Given the description of an element on the screen output the (x, y) to click on. 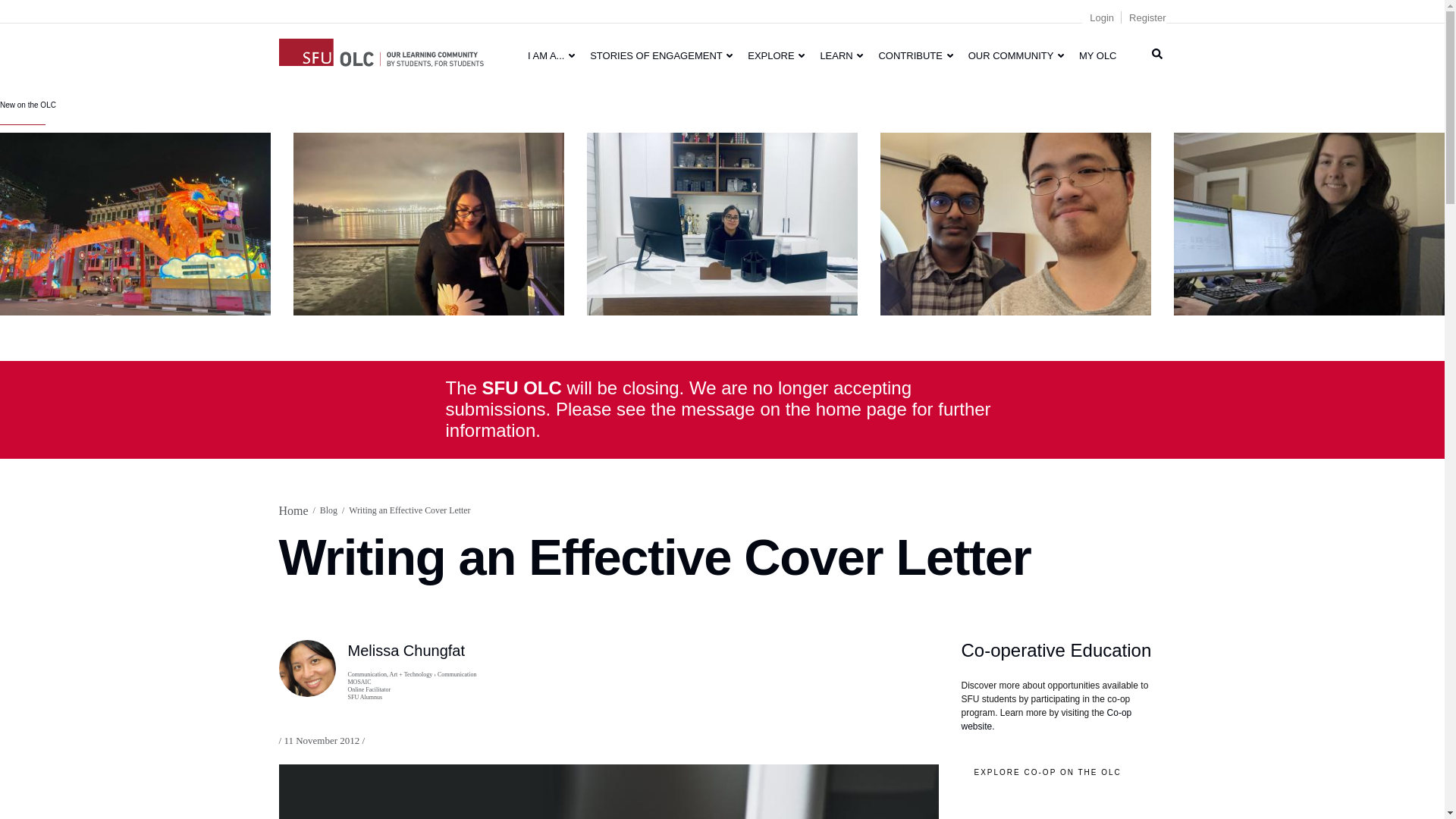
Home (381, 50)
I AM A... (550, 55)
Working From My At-Home Office (1308, 223)
Working together on a project! (1015, 223)
STORIES OF ENGAGEMENT (660, 55)
LEARN (841, 55)
CONTRIBUTE (914, 55)
OUR COMMUNITY (1015, 55)
Chinatown (135, 223)
EXPLORE (775, 55)
Taken by Kamaljeet Kular  (721, 223)
Login (1101, 17)
Register (1147, 17)
